Given the description of an element on the screen output the (x, y) to click on. 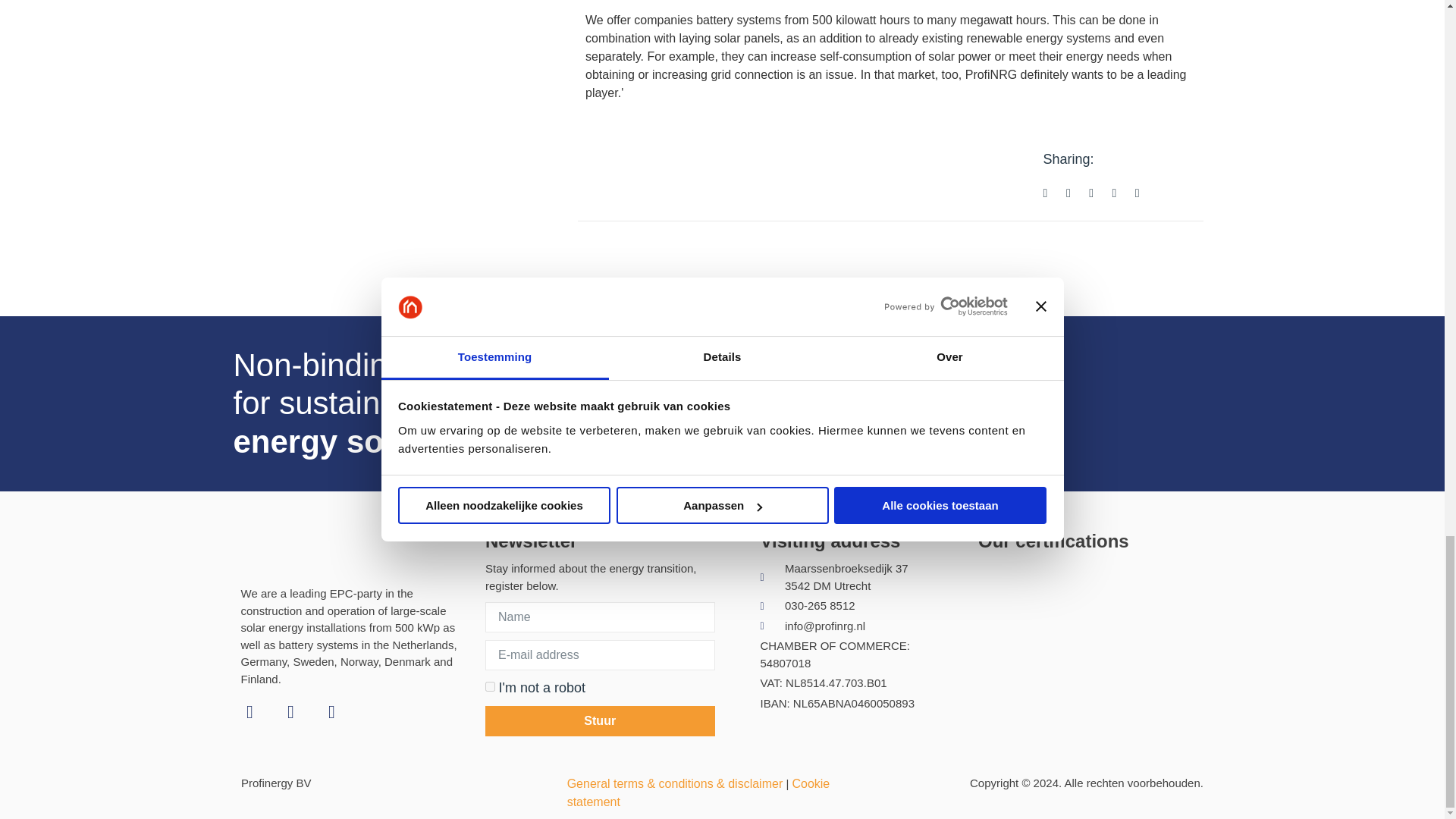
I'm not a robot (489, 686)
